Given the description of an element on the screen output the (x, y) to click on. 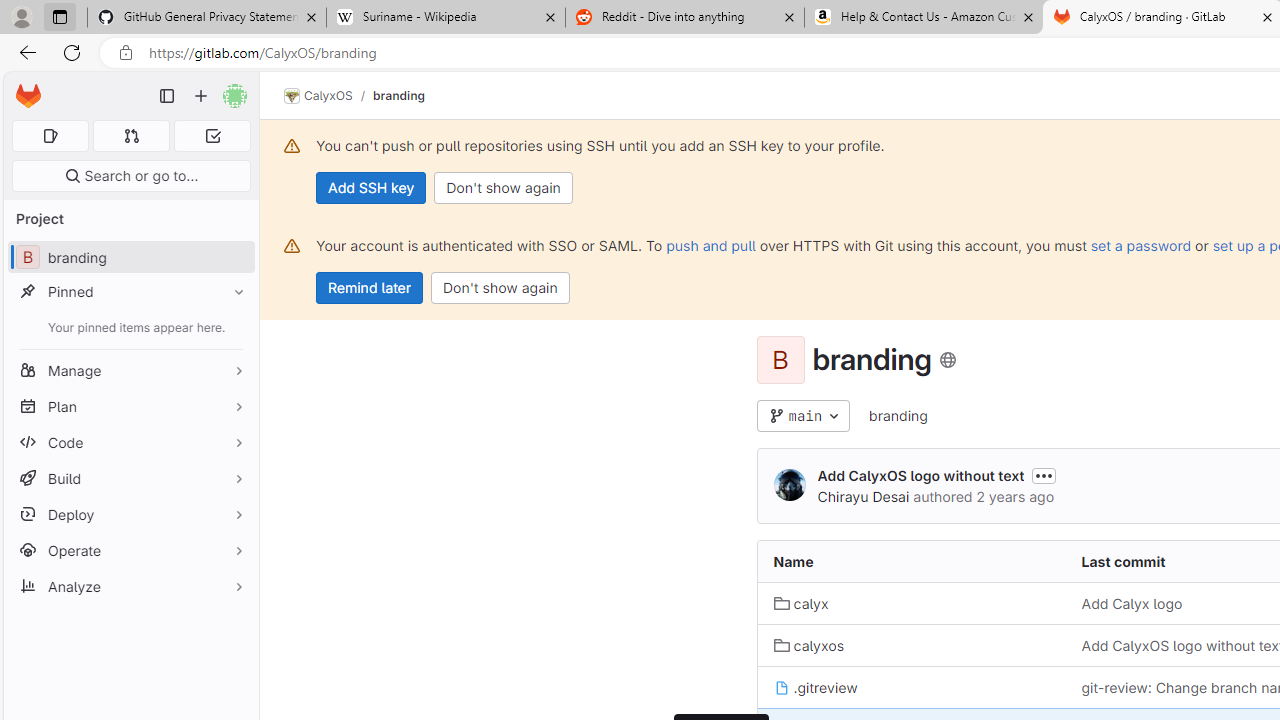
.gitreview (911, 687)
Deploy (130, 514)
Create new... (201, 96)
Plan (130, 406)
Name (911, 561)
Pinned (130, 291)
Homepage (27, 96)
Reddit - Dive into anything (684, 17)
To-Do list 0 (212, 136)
Chirayu Desai's avatar (789, 485)
Deploy (130, 514)
calyx (801, 603)
Plan (130, 406)
